Given the description of an element on the screen output the (x, y) to click on. 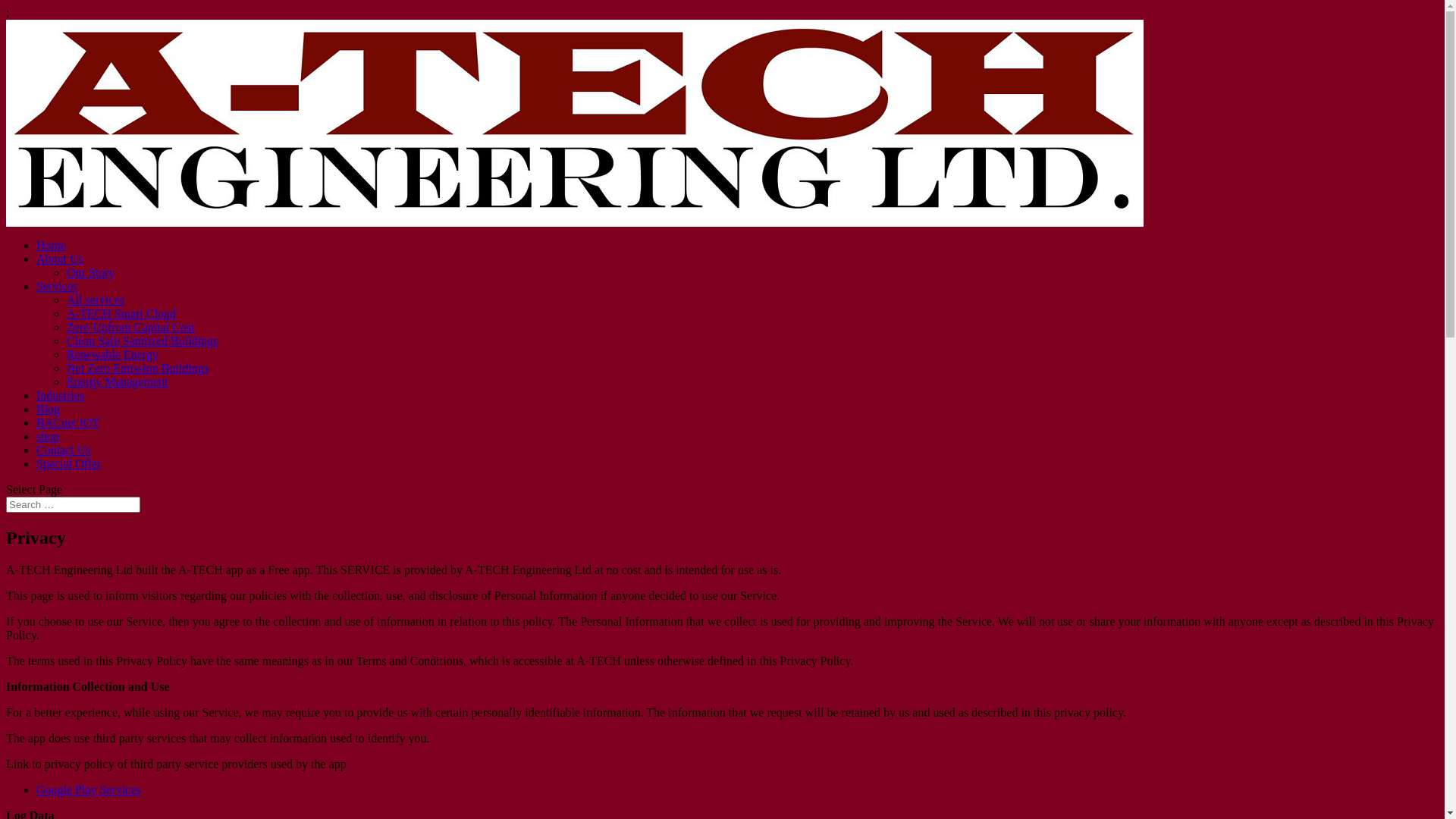
Zero Upfront Capital Cost Element type: text (130, 326)
Our Story Element type: text (90, 272)
Net Zero Emission Buildings Element type: text (137, 367)
Home Element type: text (50, 244)
Contact Us Element type: text (63, 449)
Special Offer Element type: text (68, 463)
Clean Safe Sanitized Buildings Element type: text (142, 340)
BACnet IOT Element type: text (67, 422)
A-TECH Smart Cloud Element type: text (120, 313)
Services Element type: text (56, 285)
shop Element type: text (47, 435)
Renewable Energy Element type: text (112, 354)
Industries Element type: text (60, 395)
Blog Element type: text (47, 408)
Energy Management Element type: text (116, 381)
Google Play Services Element type: text (88, 789)
Search for: Element type: hover (73, 504)
All services Element type: text (95, 299)
About Us Element type: text (59, 258)
